Given the description of an element on the screen output the (x, y) to click on. 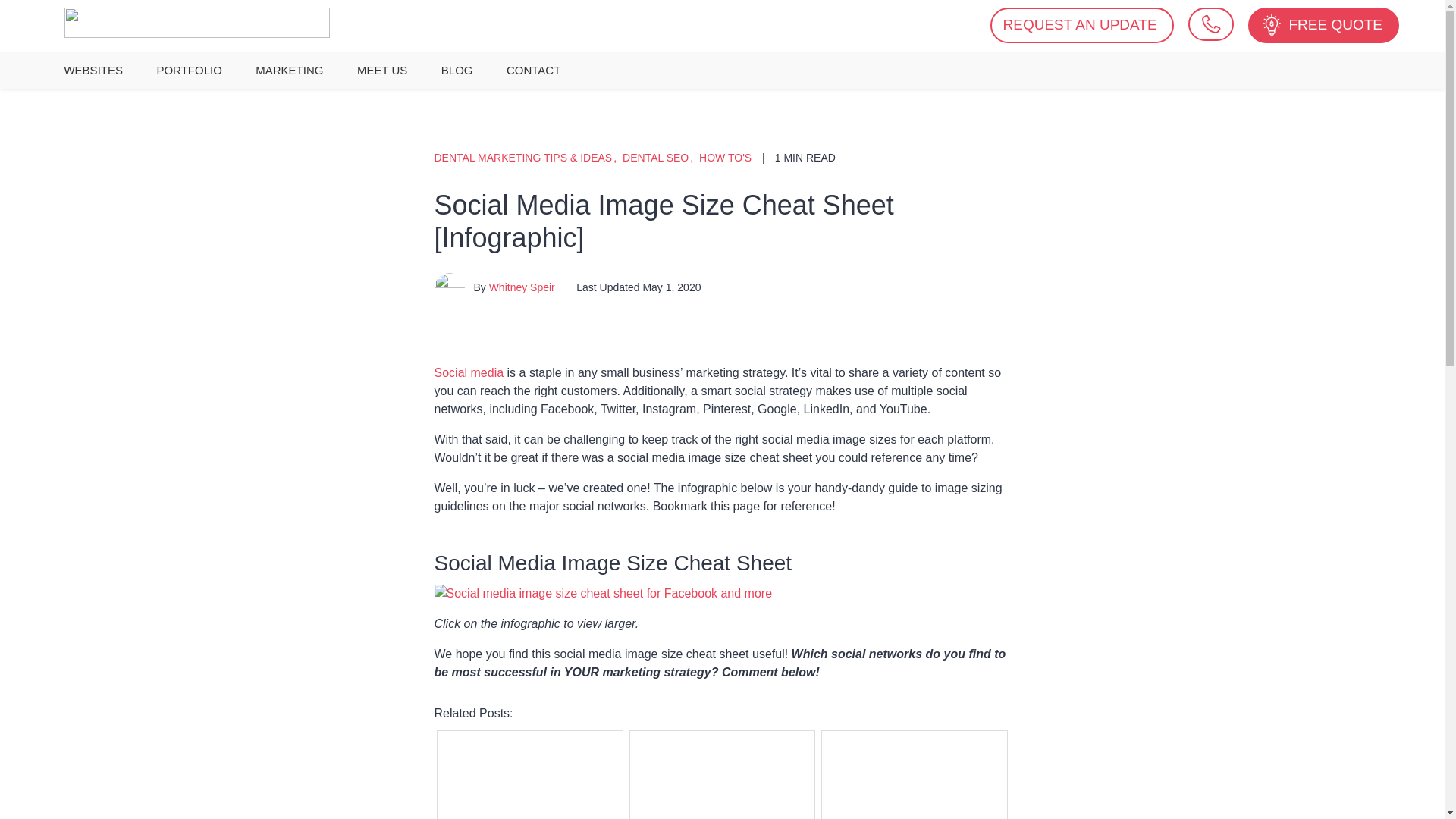
BLOG (456, 70)
Massive Changes To Google Business Profile in 2024 (722, 795)
Social media (468, 372)
DENTAL SEO (660, 157)
FREE QUOTE (1323, 25)
MARKETING (288, 70)
MEET US (382, 70)
Massive Changes To Google Business Profile in 2024 (722, 795)
CONTACT (533, 70)
HOW TO'S (724, 157)
WEBSITES (93, 70)
Whitney Speir (521, 287)
